Given the description of an element on the screen output the (x, y) to click on. 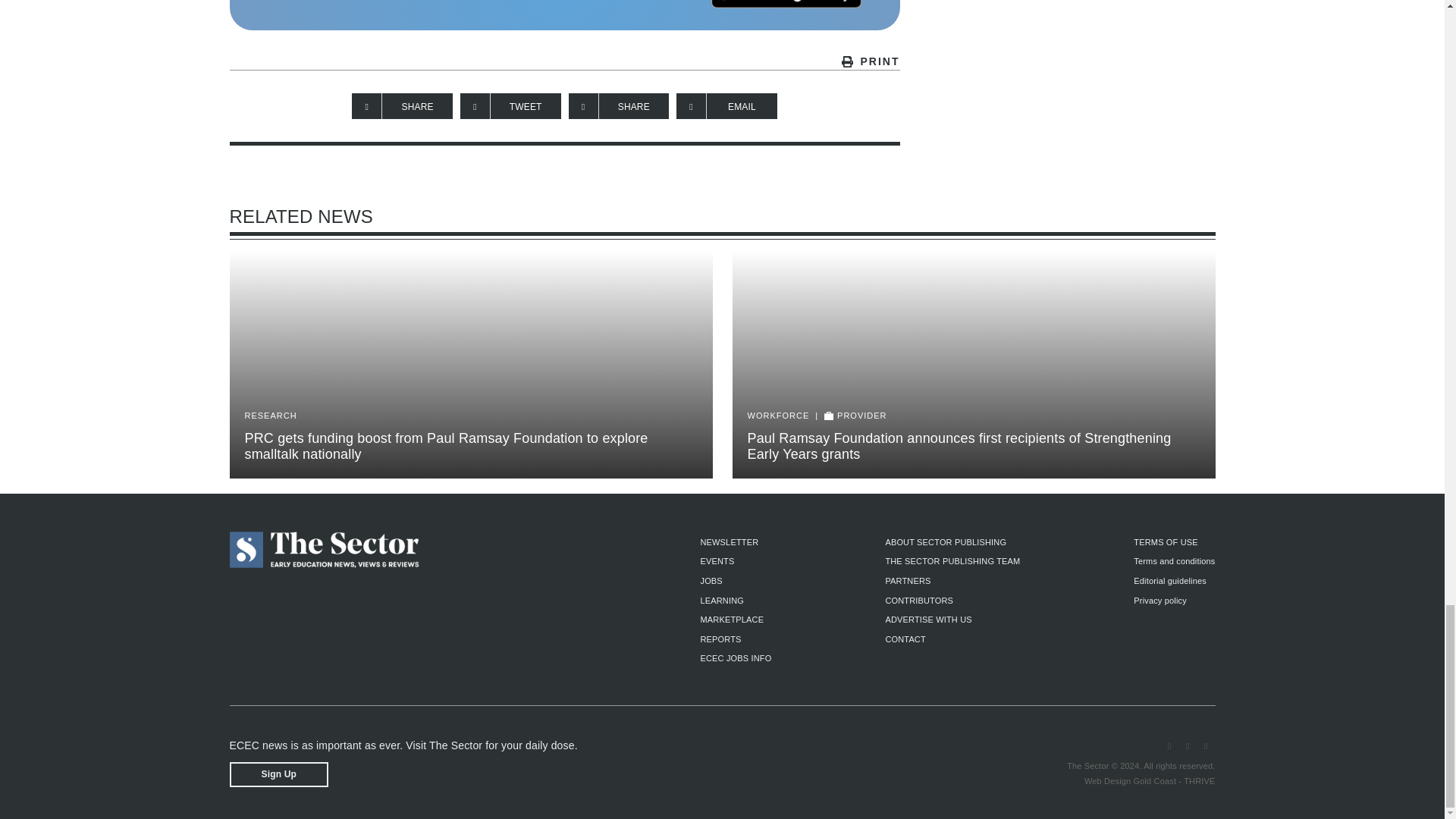
Share on Facebook (402, 105)
Tweet (510, 105)
Share on LinkedIn (619, 105)
Web Design Gold Coast (1130, 780)
Share on Email (727, 105)
